Given the description of an element on the screen output the (x, y) to click on. 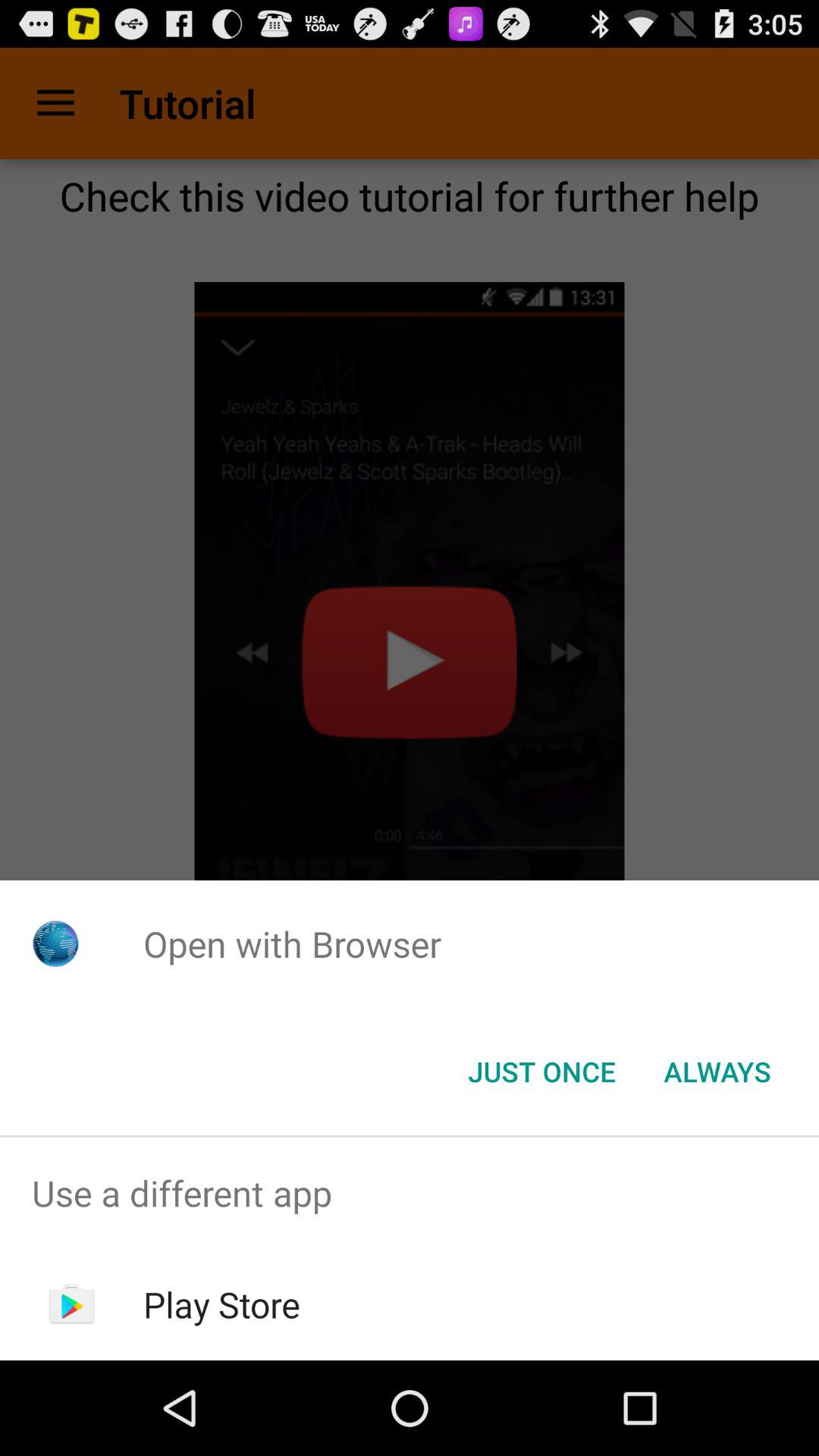
flip to just once item (541, 1071)
